Given the description of an element on the screen output the (x, y) to click on. 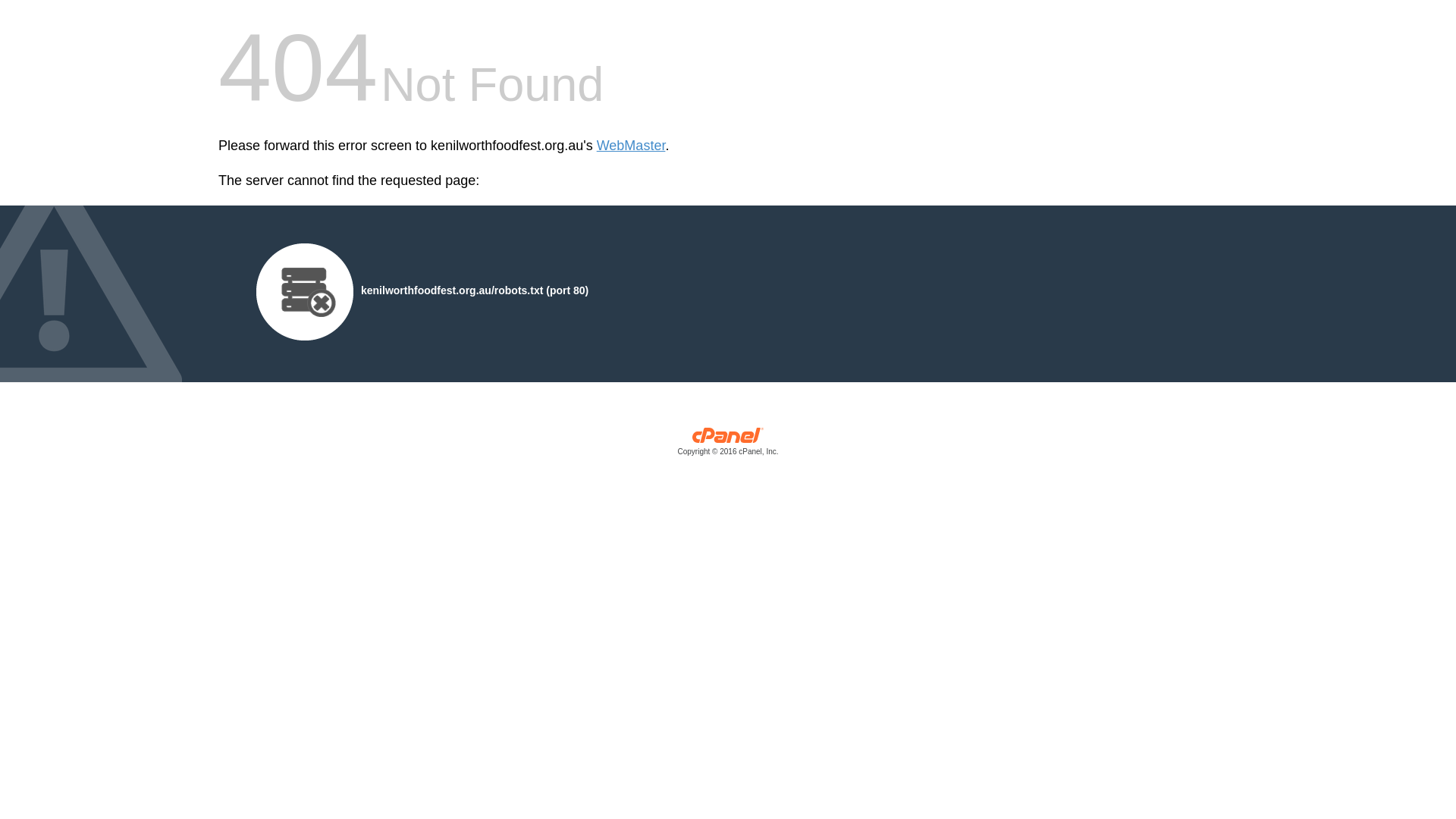
WebMaster Element type: text (630, 145)
